Given the description of an element on the screen output the (x, y) to click on. 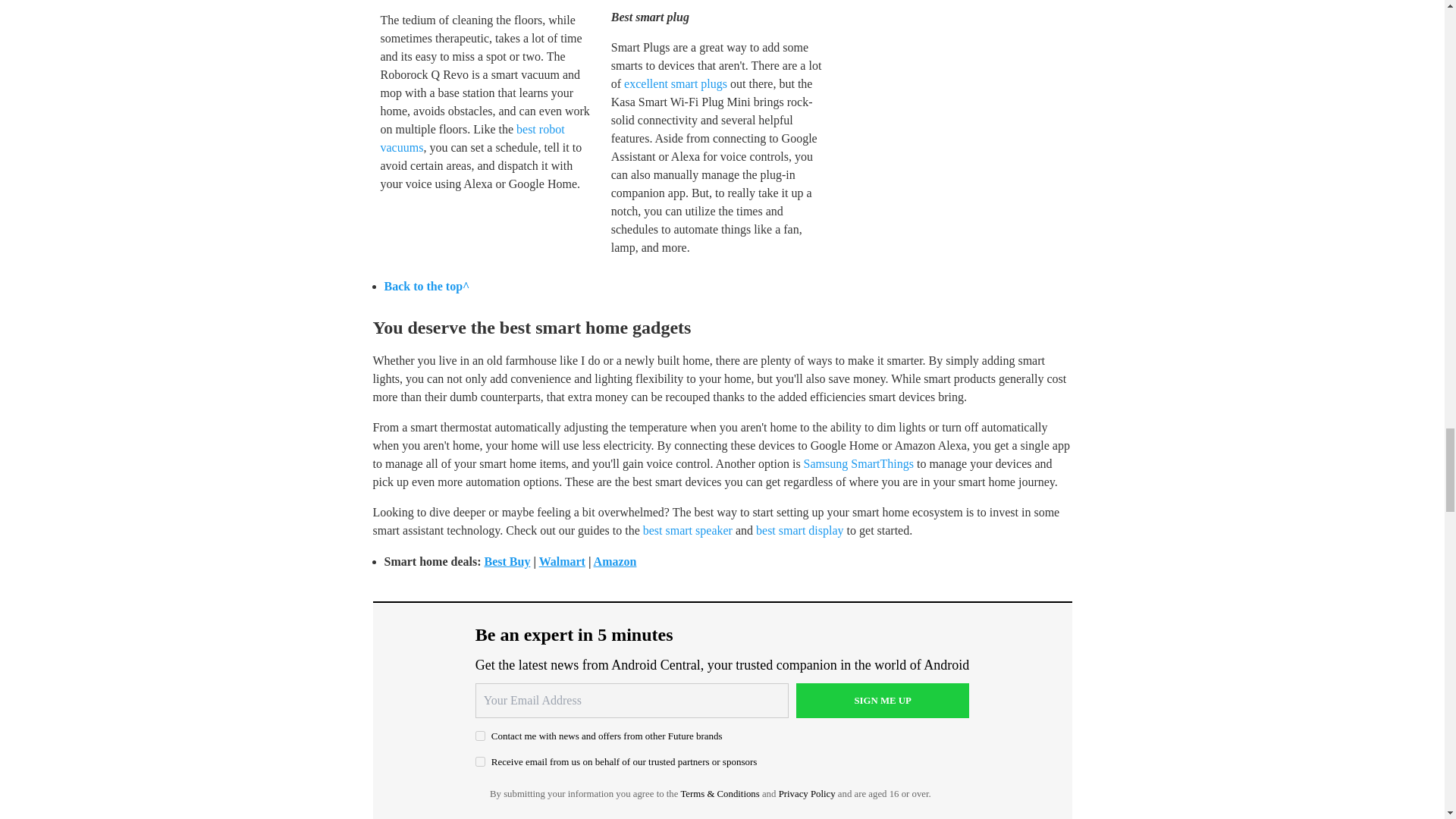
Sign me up (882, 700)
on (480, 736)
on (480, 761)
